Given the description of an element on the screen output the (x, y) to click on. 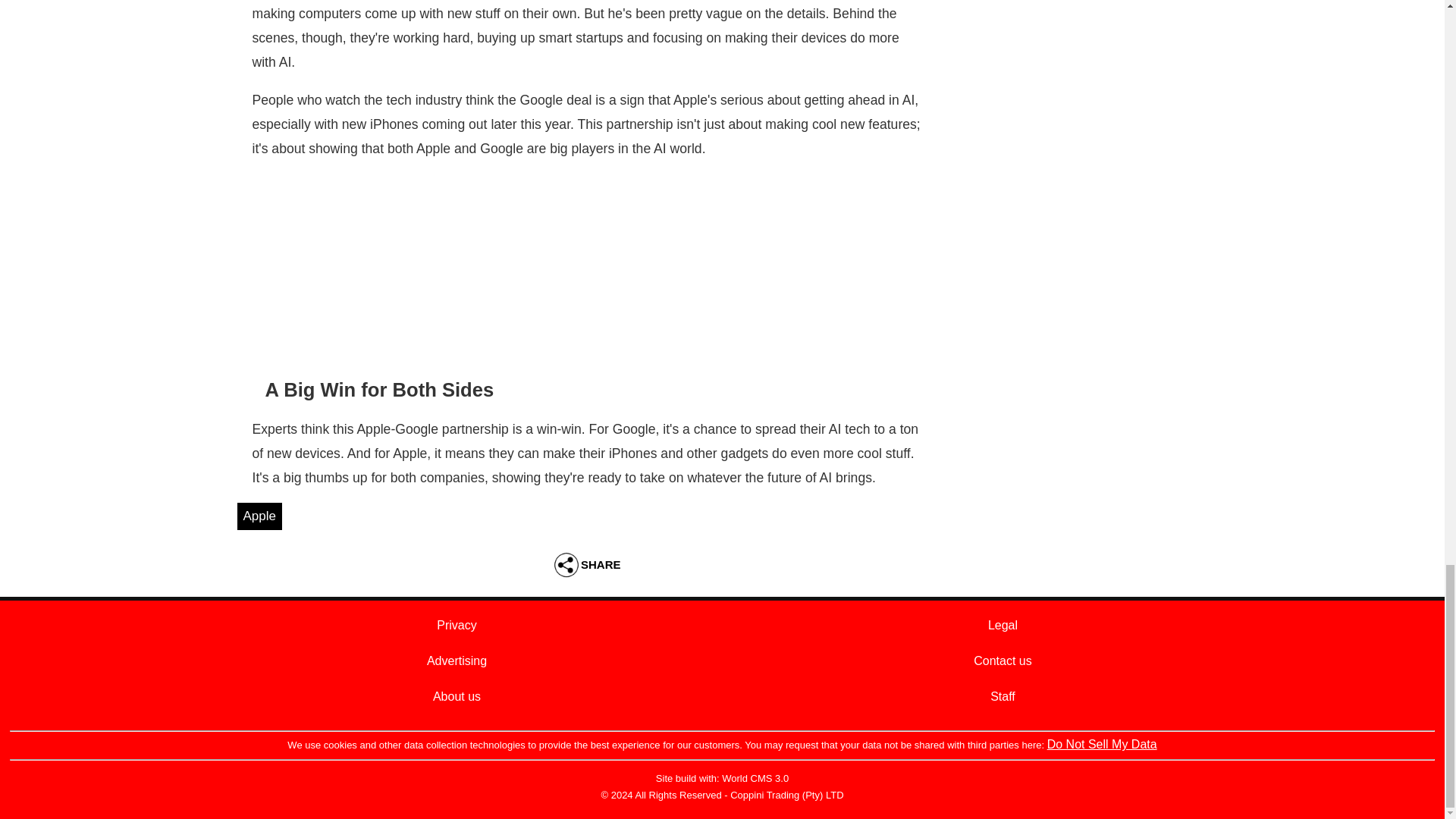
About us (456, 696)
Contact us (1002, 660)
Legal (1002, 625)
Privacy (456, 625)
Advertising (456, 660)
Apple (258, 515)
